Given the description of an element on the screen output the (x, y) to click on. 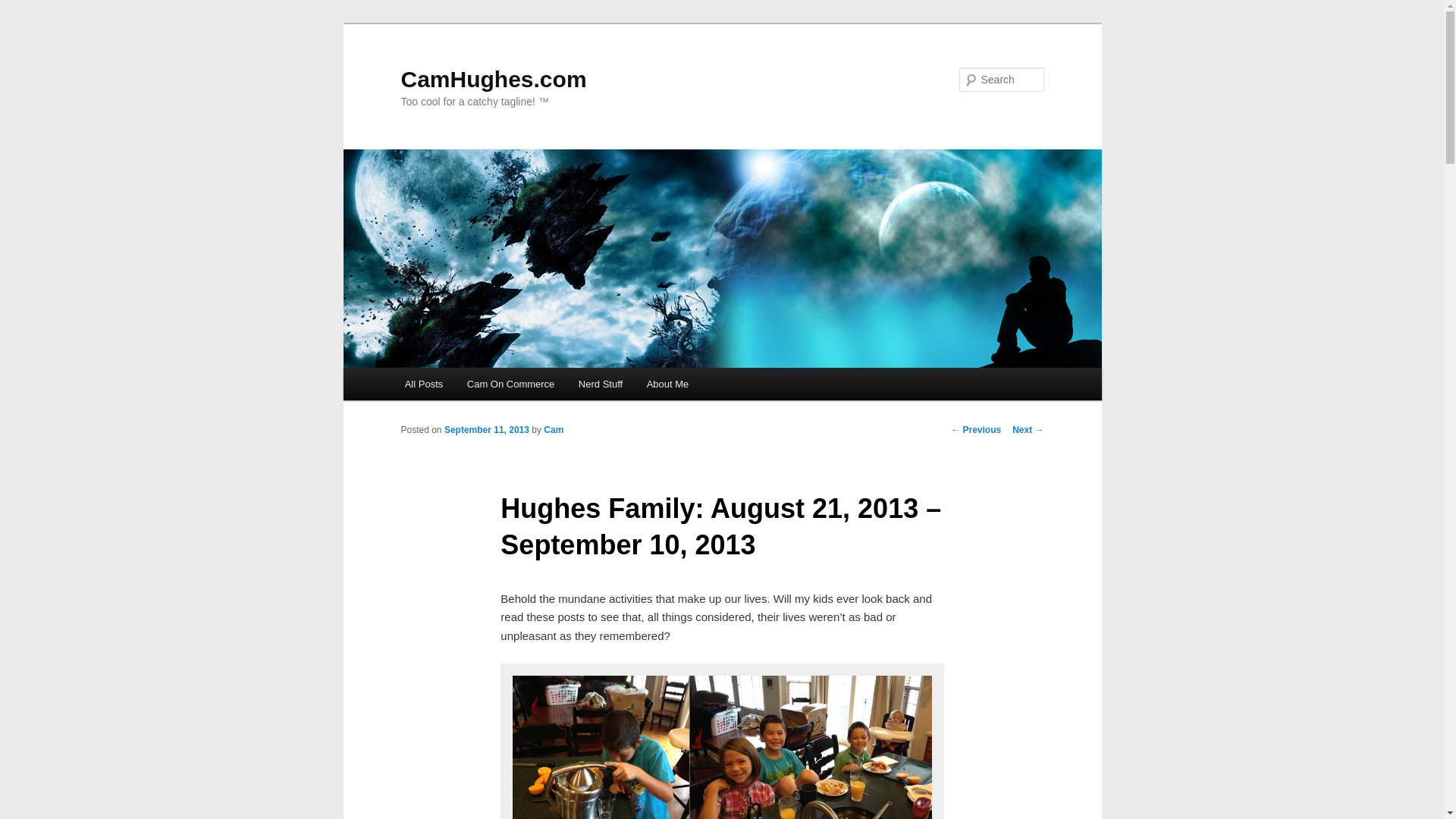
All Posts (423, 383)
Search (24, 8)
Nerd Stuff (600, 383)
CamHughes.com (493, 78)
Cam On Commerce (510, 383)
5:12 pm (486, 429)
About Me (667, 383)
Cam (553, 429)
View all posts by Cam (553, 429)
September 11, 2013 (486, 429)
